Given the description of an element on the screen output the (x, y) to click on. 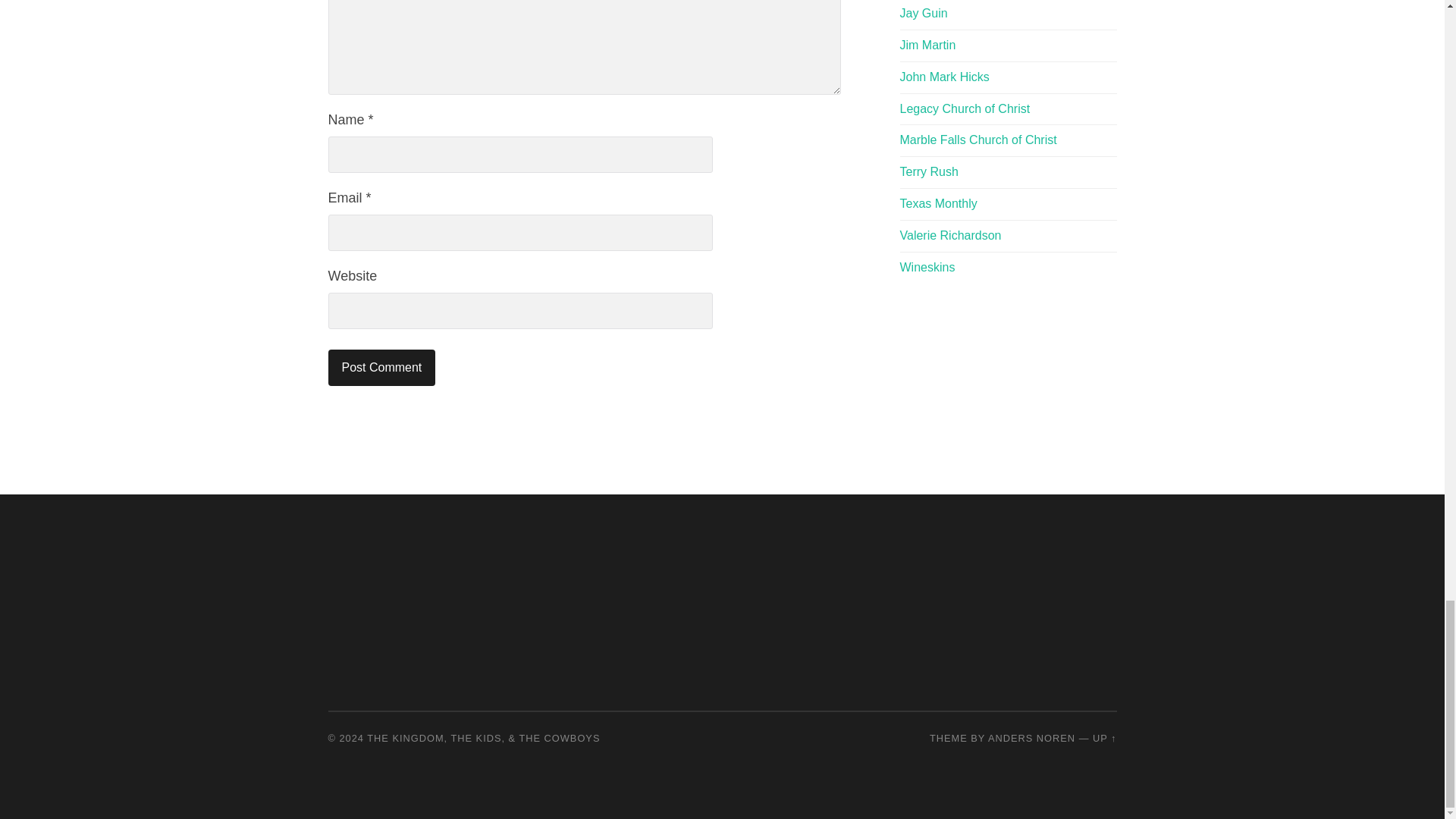
God Hungry (927, 44)
Post Comment (381, 367)
John Mark Hicks Ministries (943, 76)
Morning Rush (928, 171)
Legacy Church of Christ in North Richland Hills, Texas (964, 108)
Marble Falls Church of Christ in the Texas Hill Country (978, 139)
Exploring the Heart of Restoration (927, 267)
One in Jesus (923, 12)
The National Magazine of Texas (937, 203)
The Kitchen Sink (950, 235)
